Given the description of an element on the screen output the (x, y) to click on. 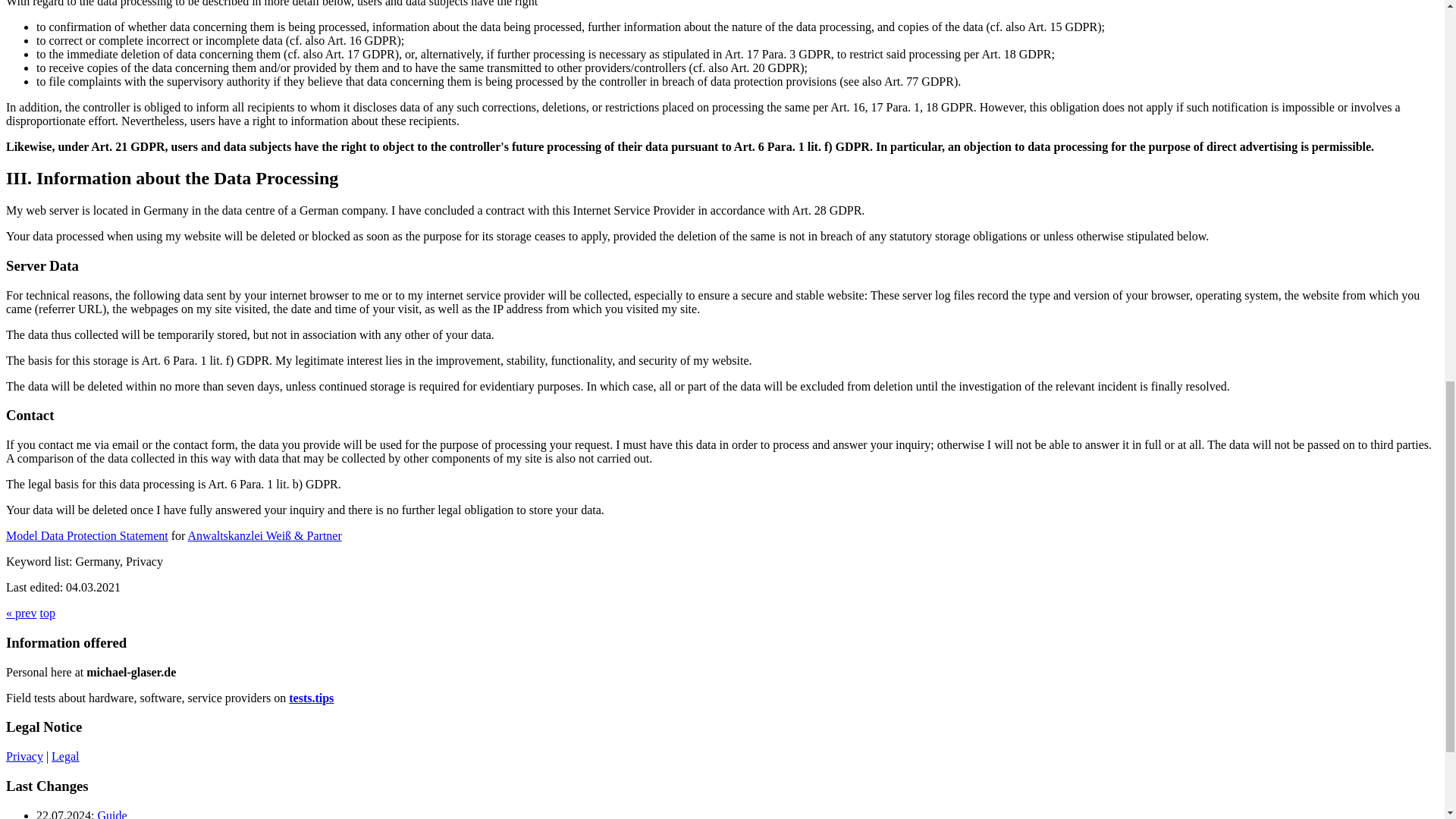
Model Data Protection Statement (86, 535)
Law firm (264, 535)
Privacy (24, 756)
Legal Notice (64, 756)
Privacy policy (24, 756)
tests.tips (310, 697)
Legal (64, 756)
Guide (111, 813)
top (47, 612)
